Given the description of an element on the screen output the (x, y) to click on. 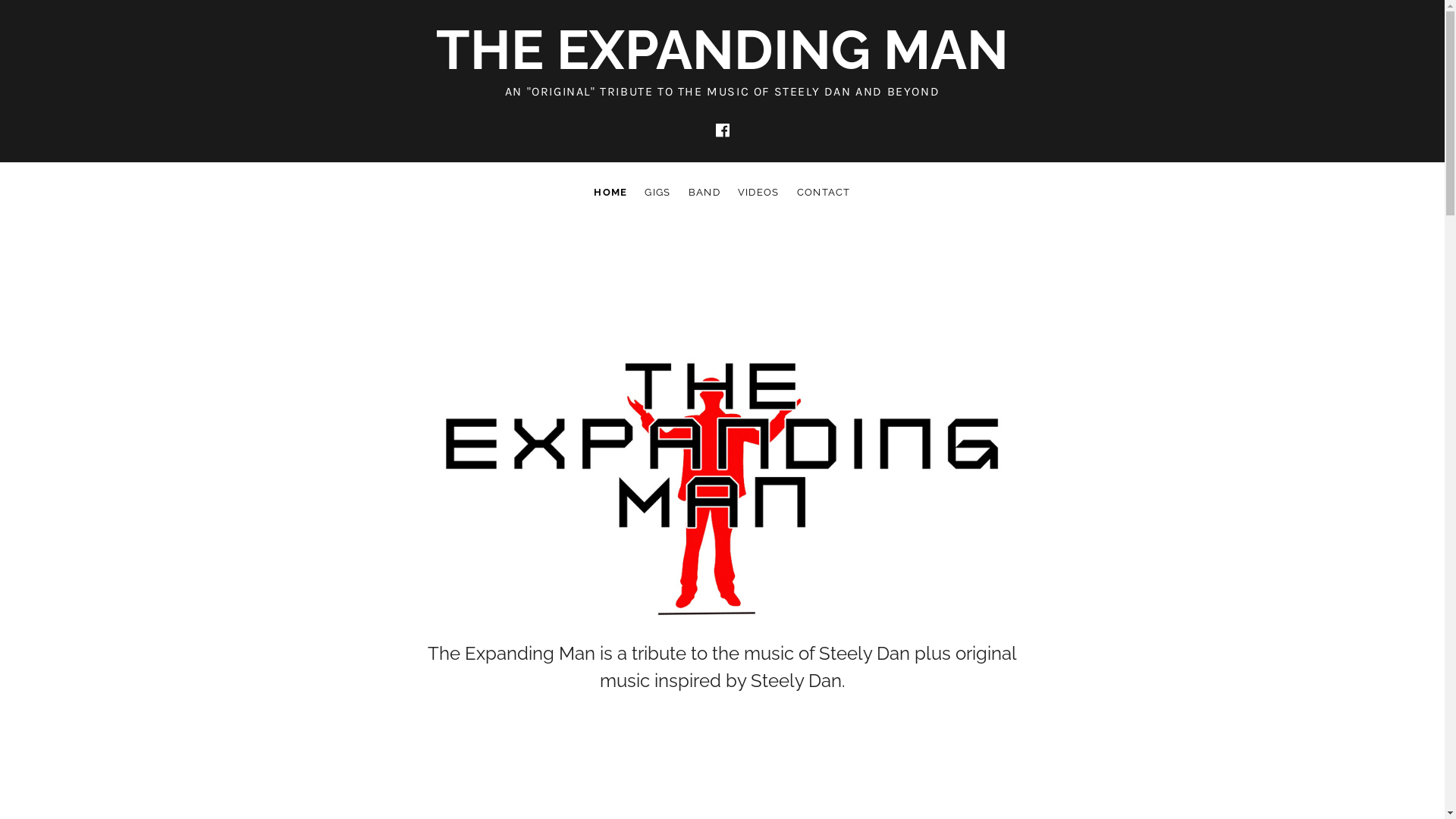
BAND Element type: text (704, 192)
HOME Element type: text (610, 192)
VIDEOS Element type: text (758, 192)
THE EXPANDING MAN Element type: text (722, 49)
Facebook Element type: text (721, 130)
CONTACT Element type: text (823, 192)
GIGS Element type: text (657, 192)
